Given the description of an element on the screen output the (x, y) to click on. 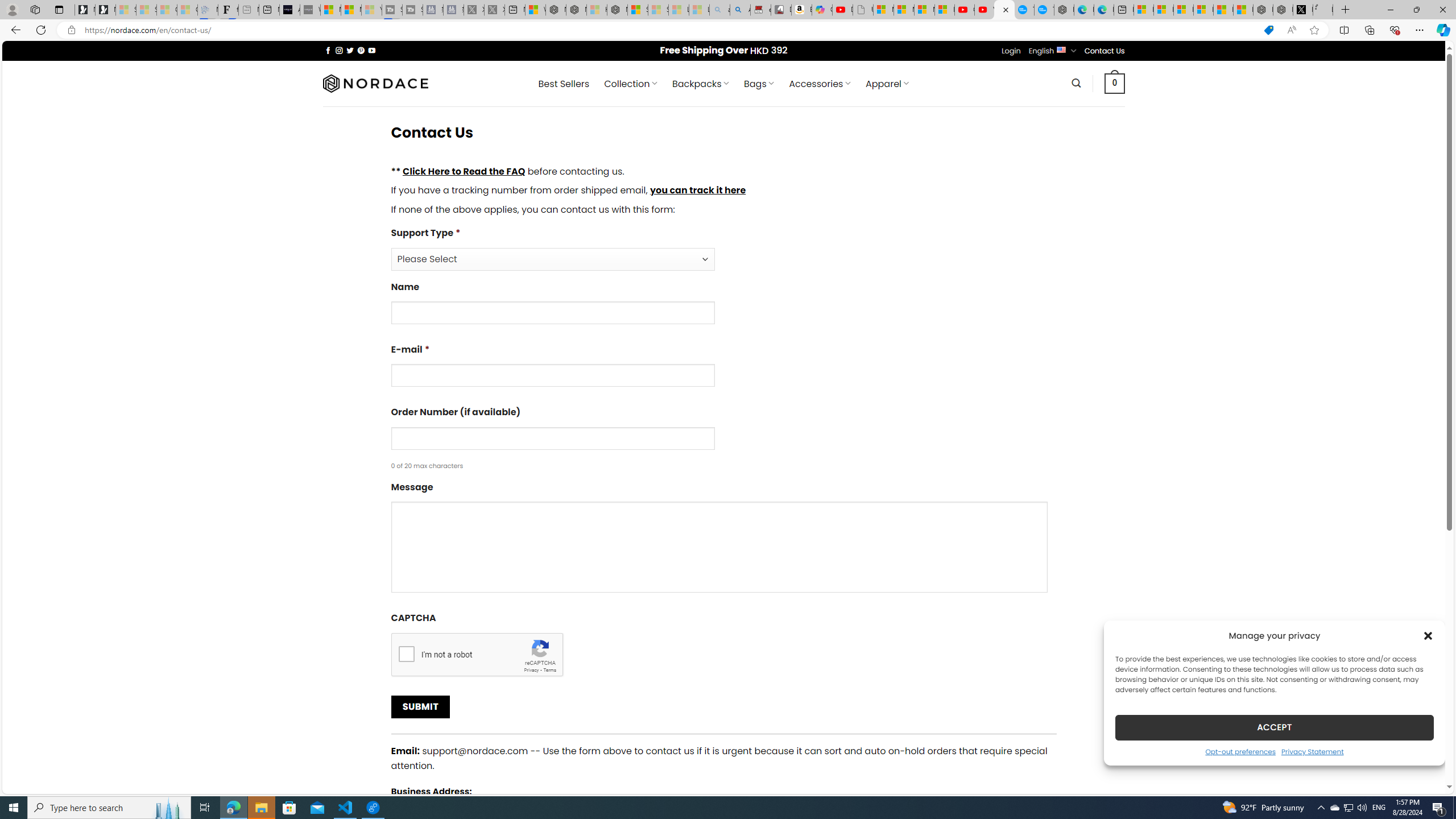
Class: cmplz-close (1428, 635)
Nordace - Contact Us (1004, 9)
Name (552, 312)
Terms (549, 669)
Message (719, 546)
